Given the description of an element on the screen output the (x, y) to click on. 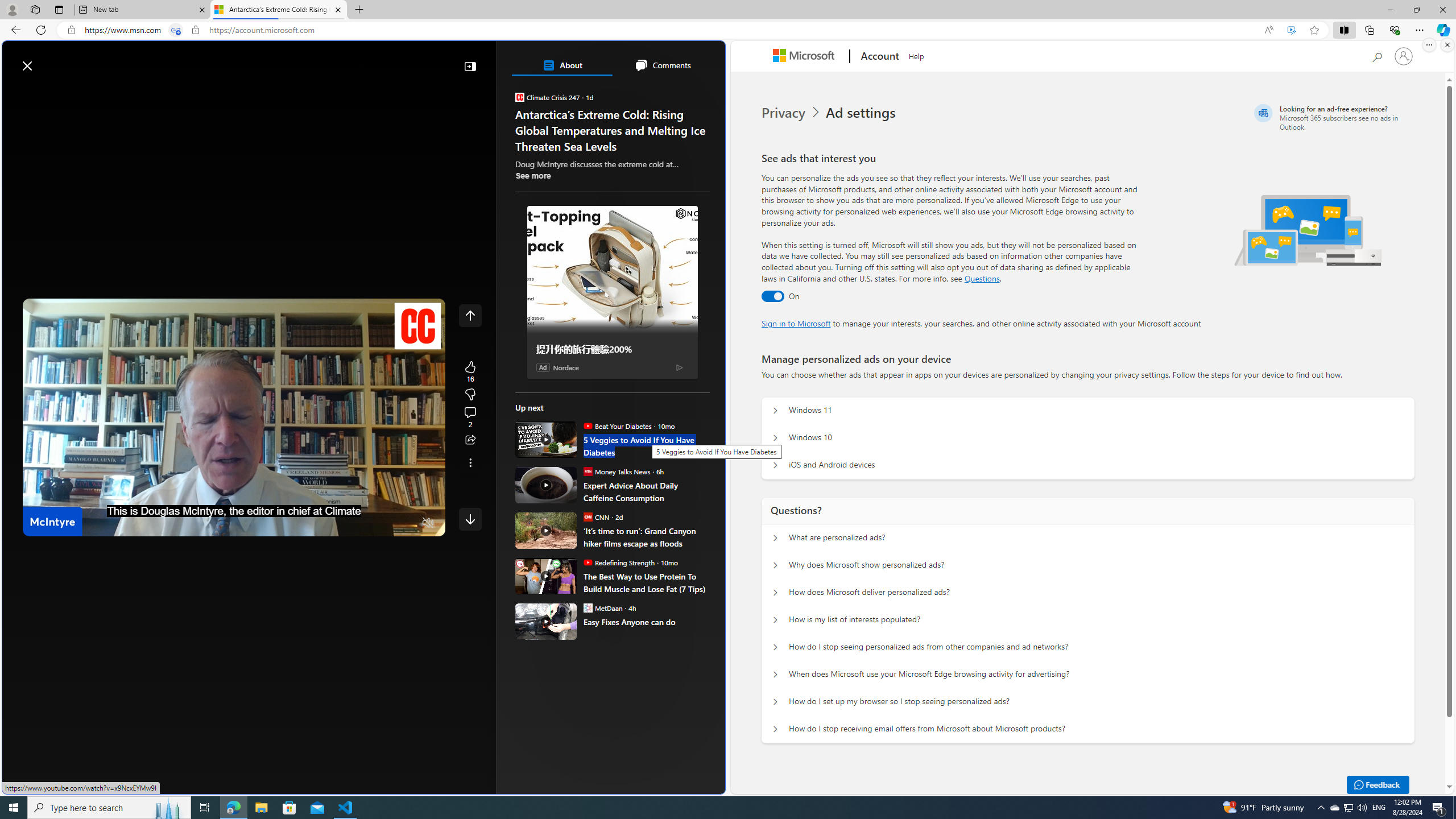
Unmute (427, 523)
Questions? Why does Microsoft show personalized ads? (775, 565)
CNN (587, 516)
Enhance video (1291, 29)
Close split screen. (1447, 45)
Redefining Strength Redefining Strength (618, 561)
